Given the description of an element on the screen output the (x, y) to click on. 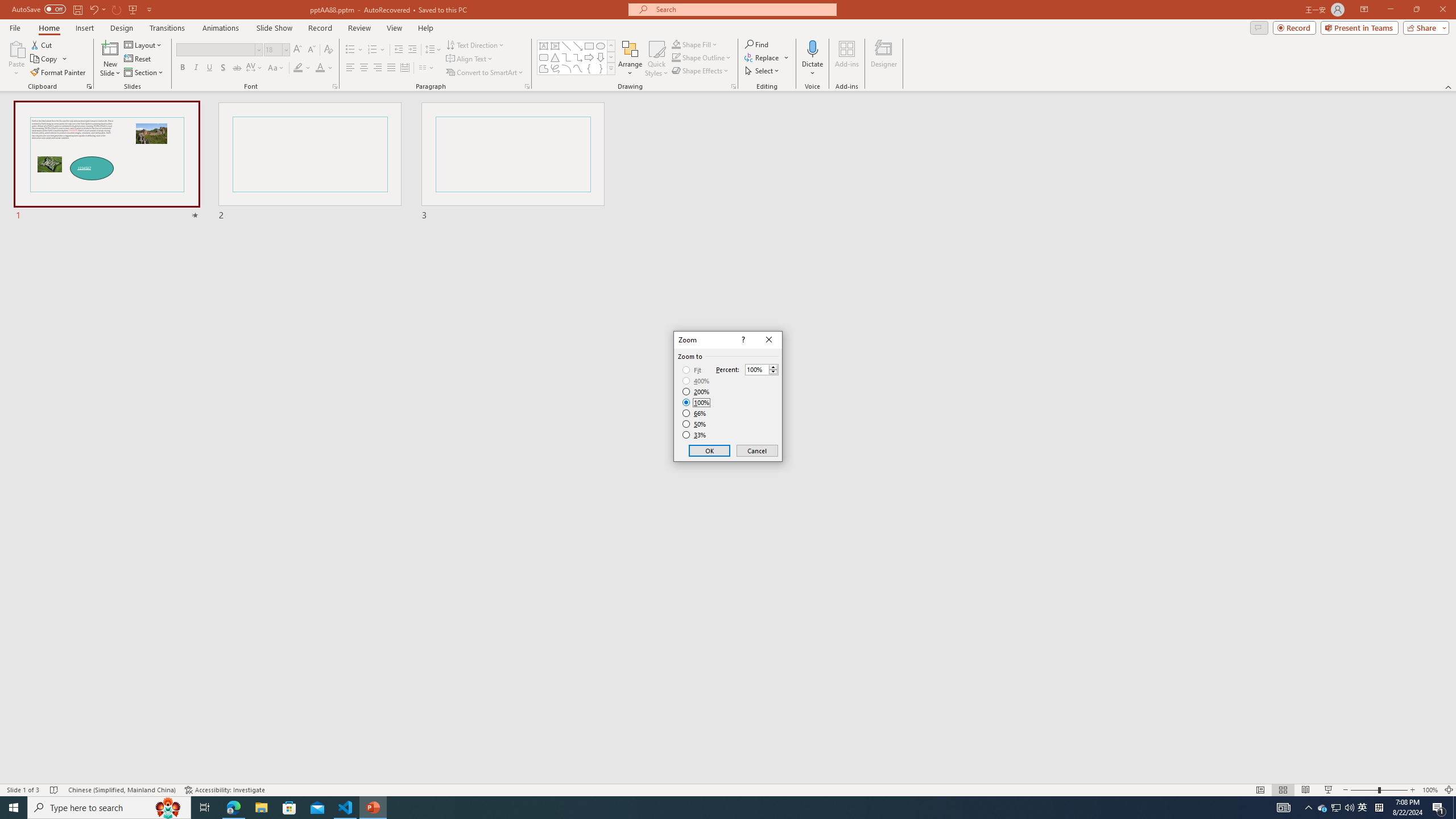
66% (694, 412)
33% (694, 434)
Shape Outline Teal, Accent 1 (675, 56)
